Given the description of an element on the screen output the (x, y) to click on. 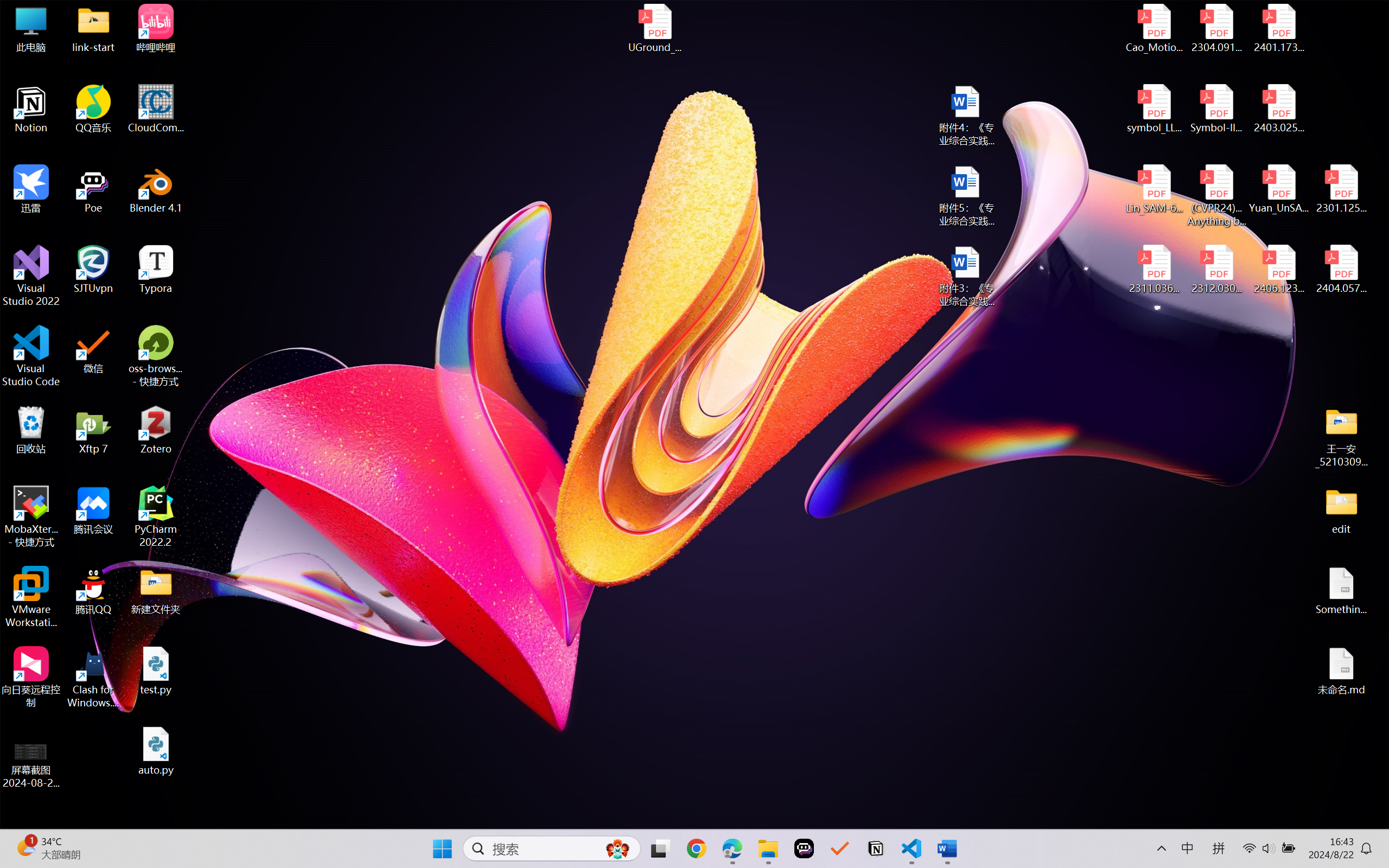
Xftp 7 (93, 430)
Something.md (1340, 591)
